Given the description of an element on the screen output the (x, y) to click on. 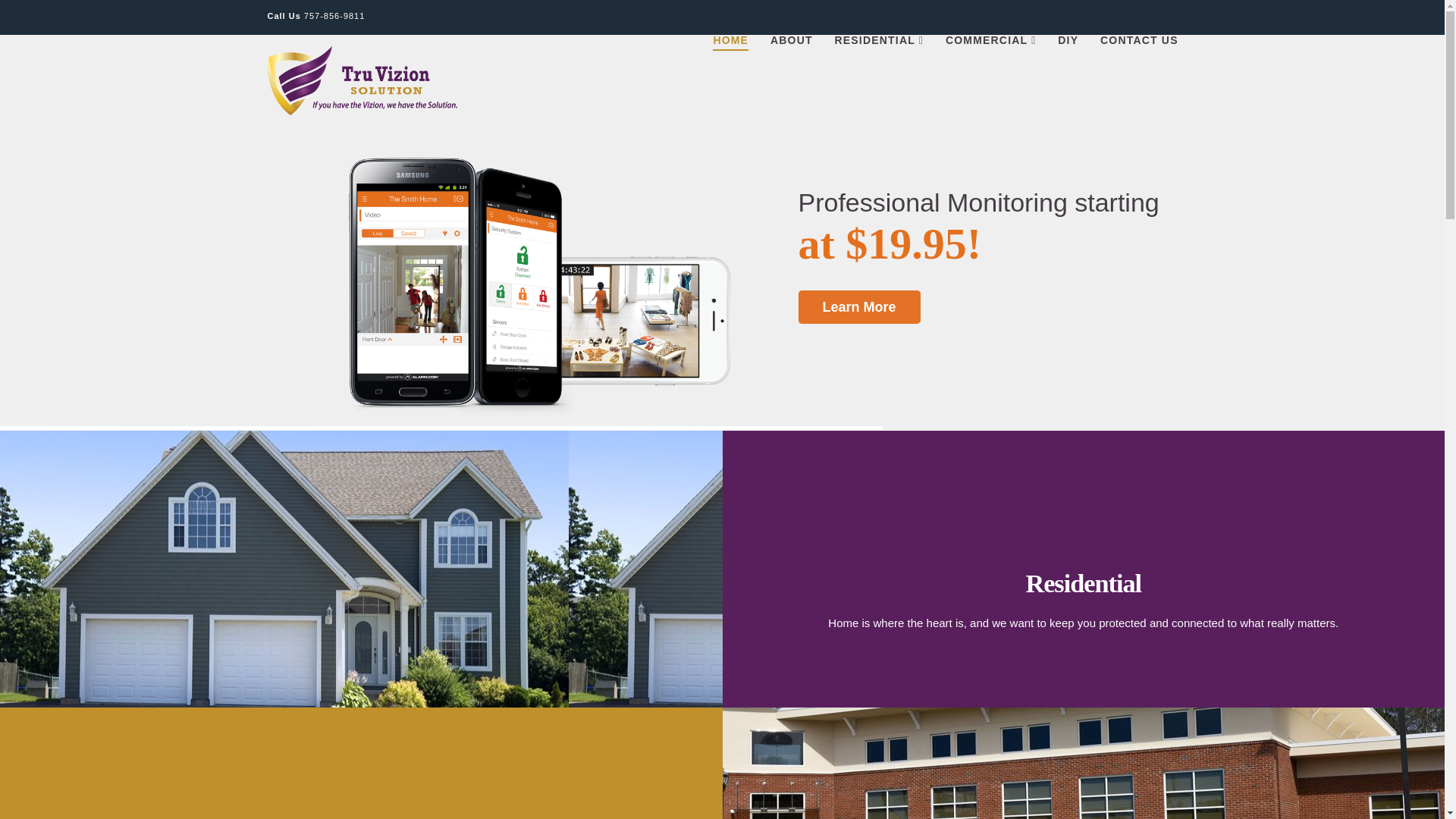
If you have the Vizion, we have the solution (361, 80)
ABOUT (791, 69)
CONTACT US (1132, 69)
RESIDENTIAL (879, 69)
Learn More (858, 306)
COMMERCIAL (990, 69)
Residential (1083, 582)
